Given the description of an element on the screen output the (x, y) to click on. 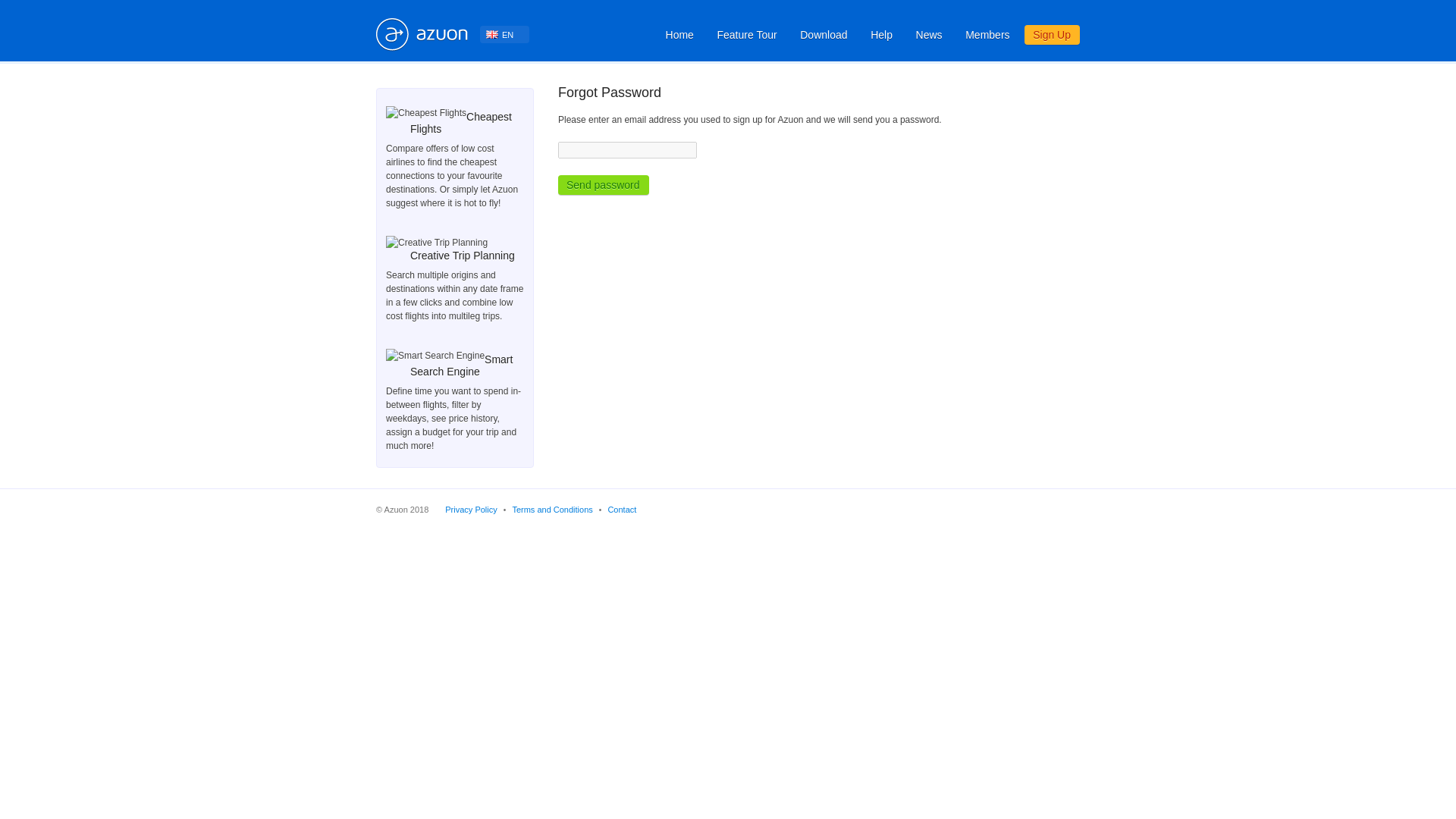
Privacy Policy (470, 509)
Sign Up (1052, 35)
Help (881, 35)
Home (680, 35)
News (929, 35)
EN (504, 34)
Terms and Conditions (552, 509)
Download (824, 35)
Members (986, 35)
Contact (621, 509)
